Given the description of an element on the screen output the (x, y) to click on. 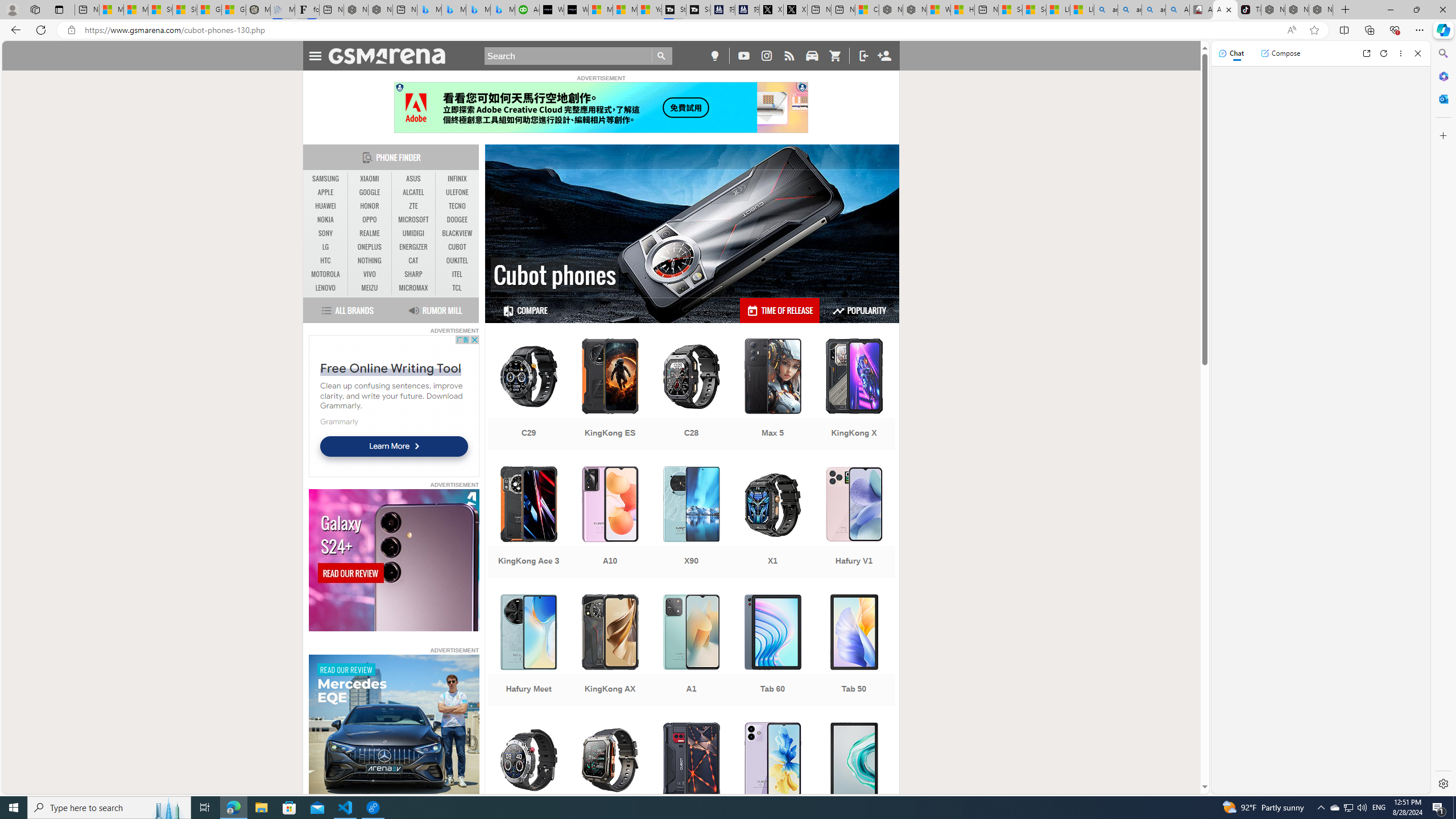
Privacy Notification (400, 86)
TikTok (1248, 9)
MOTOROLA (325, 273)
UMIDIGI (413, 233)
HUAWEI (325, 206)
Nordace Siena Pro 15 Backpack (1296, 9)
GOOGLE (369, 192)
